Given the description of an element on the screen output the (x, y) to click on. 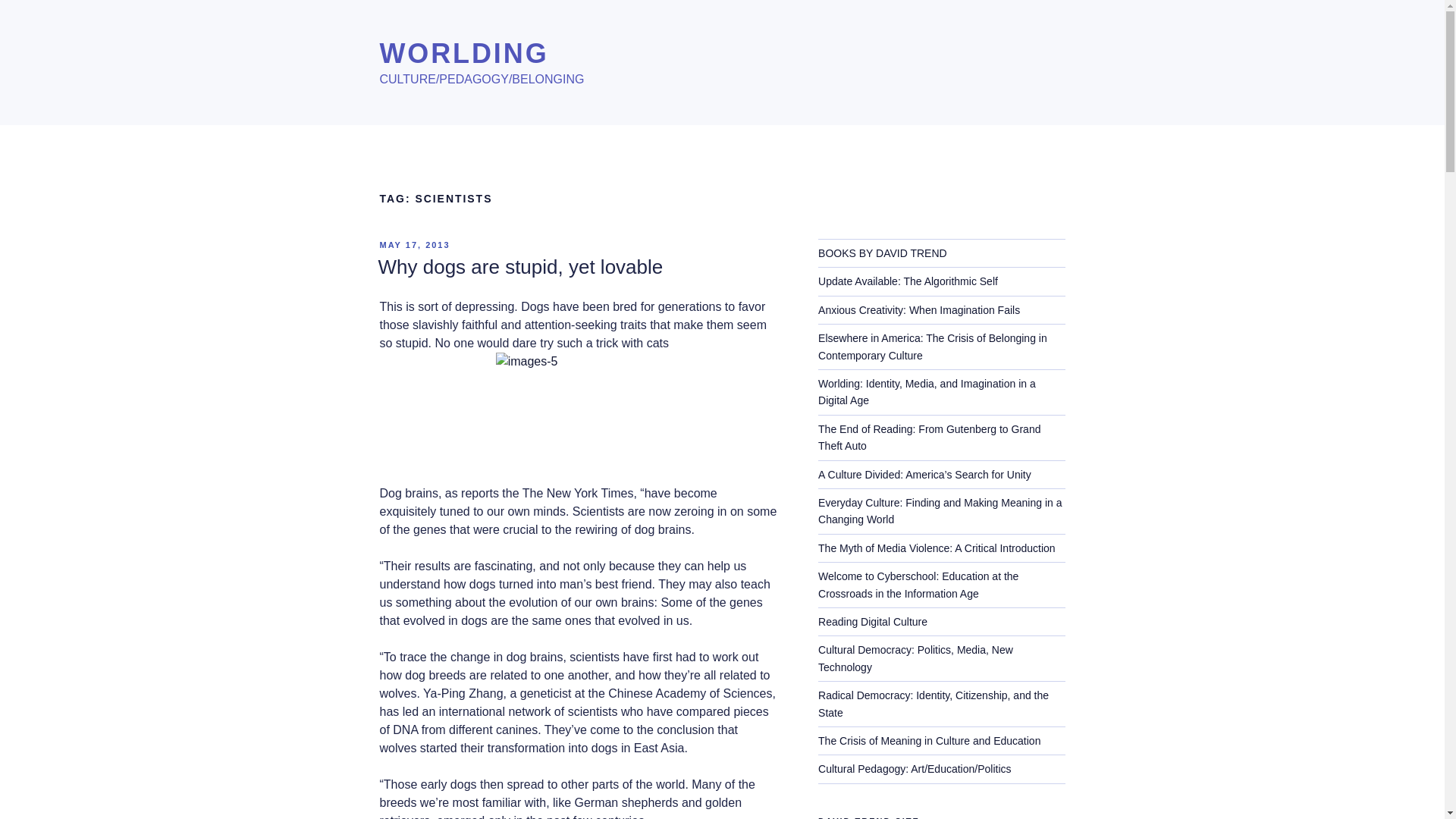
WORLDING (463, 52)
The Crisis of Meaning in Culture and Education (929, 740)
Anxious Creativity: When Imagination Fails (919, 309)
BOOKS BY DAVID TREND (882, 253)
Reading Digital Culture (872, 621)
Radical Democracy: Identity, Citizenship, and the State (933, 703)
Cultural Democracy: Politics, Media, New Technology (915, 657)
The Myth of Media Violence: A Critical Introduction (936, 548)
Worlding: Identity, Media, and Imagination in a Digital Age (926, 391)
Why dogs are stupid, yet lovable (519, 266)
MAY 17, 2013 (413, 244)
Update Available: The Algorithmic Self (907, 281)
